Given the description of an element on the screen output the (x, y) to click on. 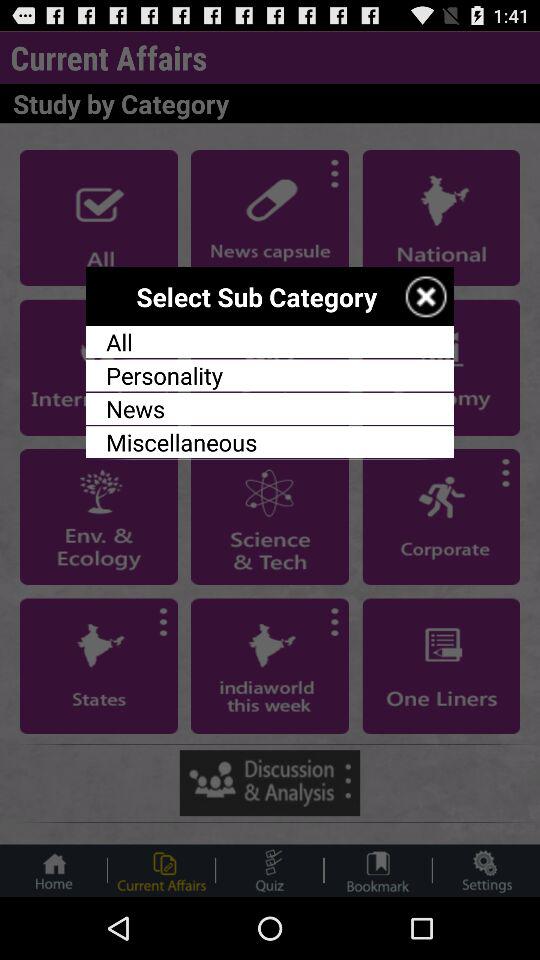
choose the app above personality icon (269, 342)
